Given the description of an element on the screen output the (x, y) to click on. 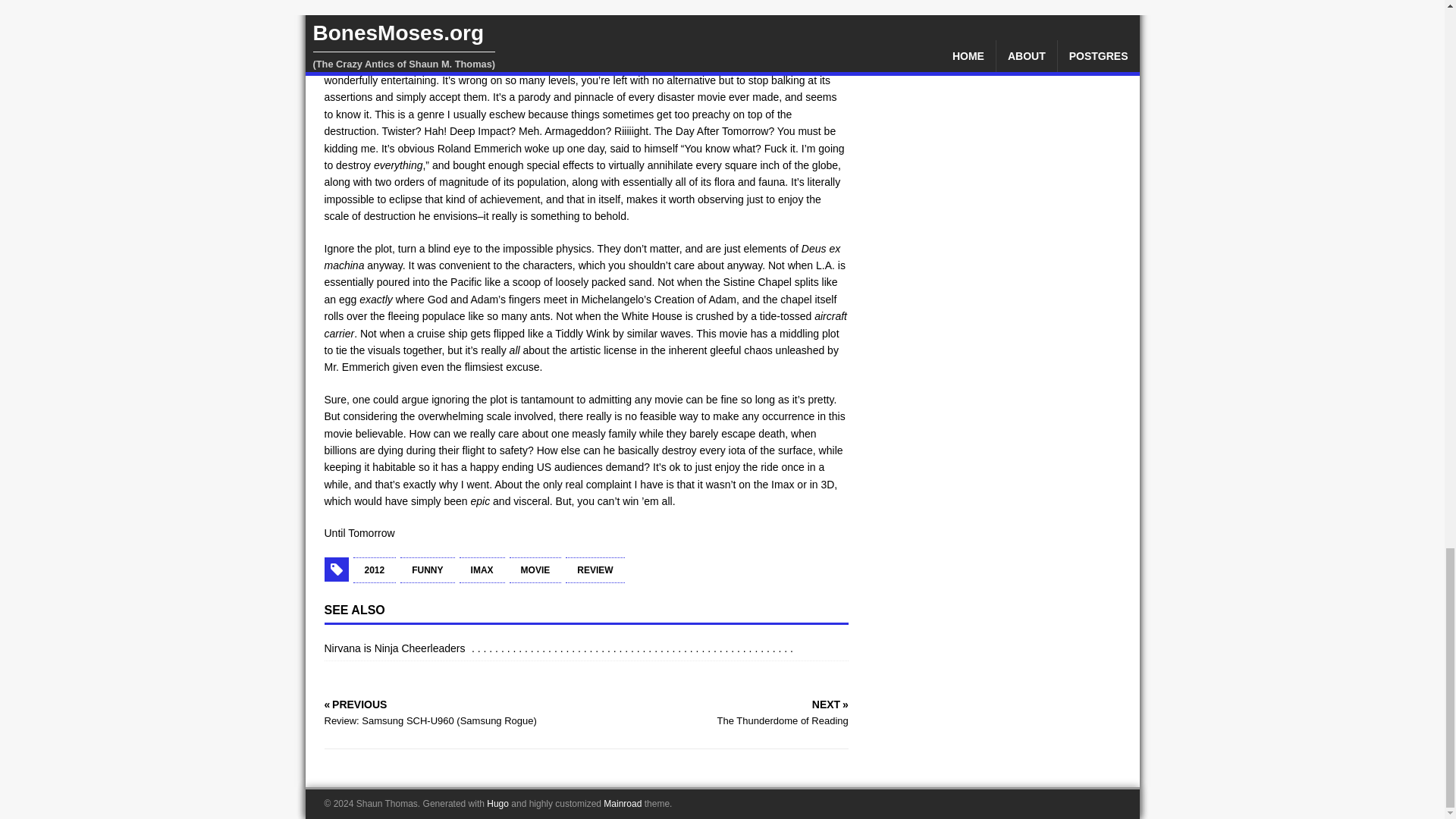
Nirvana is Ninja Cheerleaders (396, 647)
2012 (374, 570)
FUNNY (427, 570)
MOVIE (535, 570)
REVIEW (595, 570)
IMAX (482, 570)
